Given the description of an element on the screen output the (x, y) to click on. 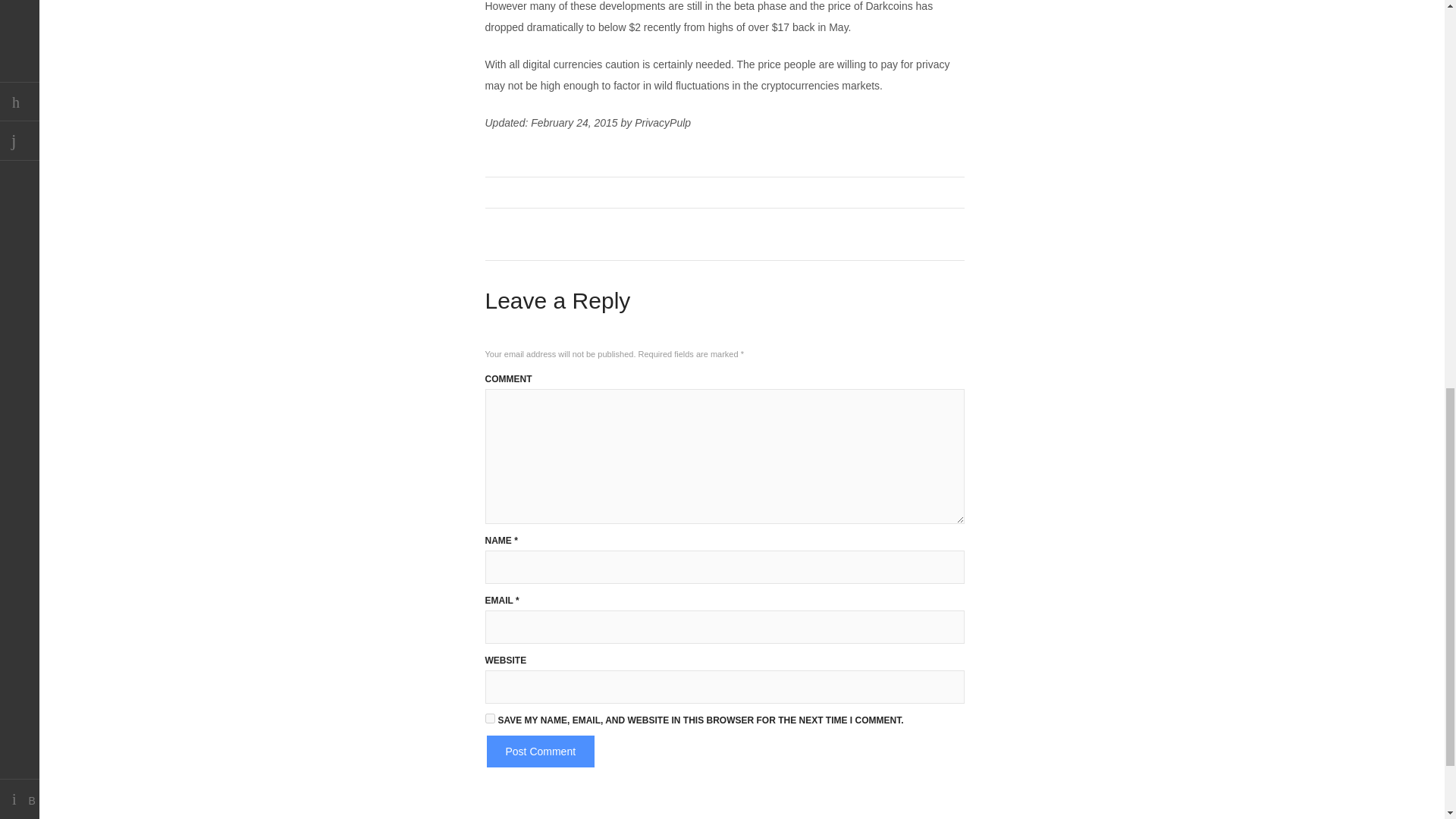
yes (489, 717)
Post Comment (540, 751)
Post Comment (540, 751)
